Given the description of an element on the screen output the (x, y) to click on. 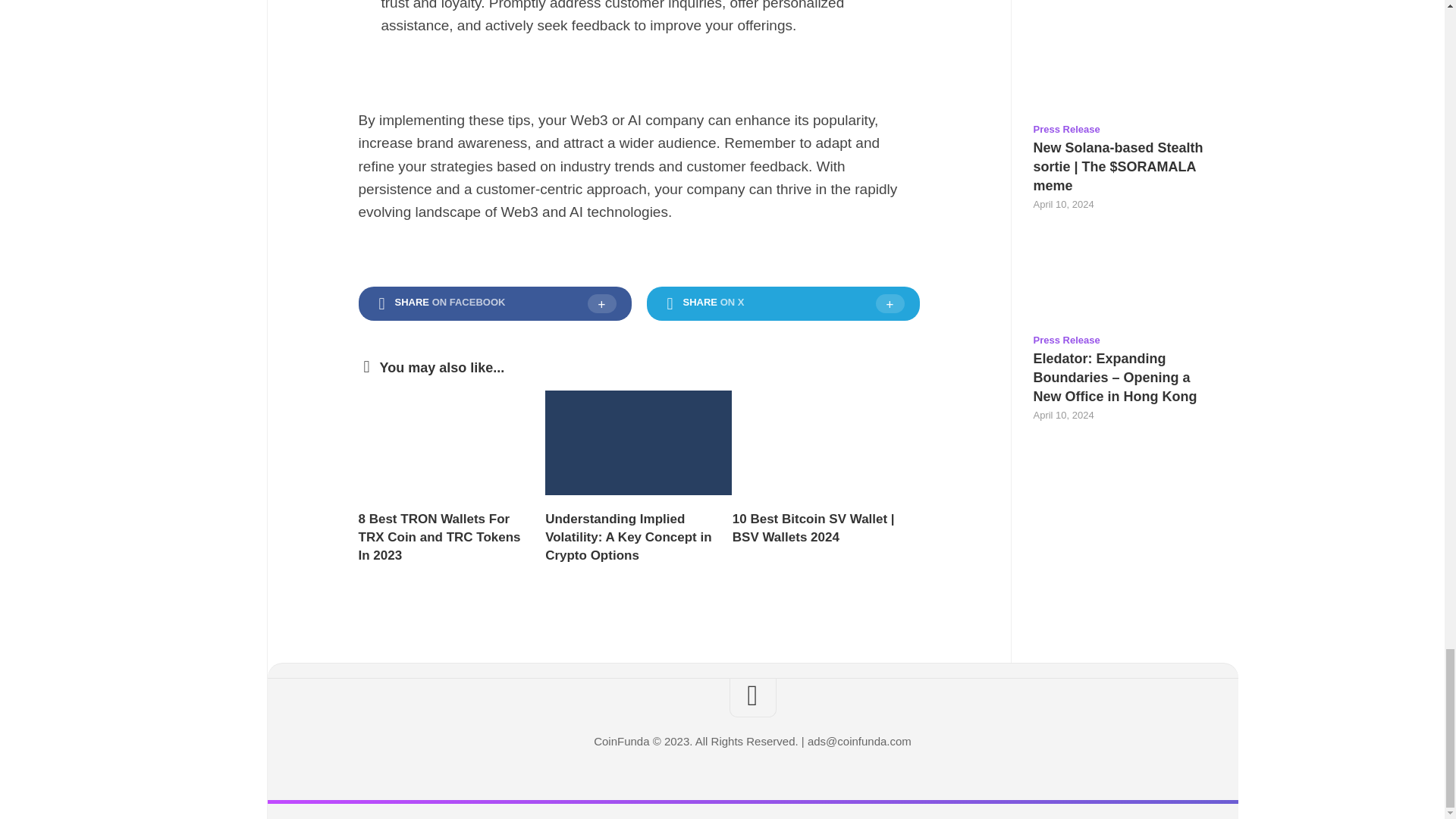
8 Best TRON Wallets For TRX Coin and TRC Tokens In 2023 (438, 536)
8 Best TRON Wallets For TRX Coin and TRC Tokens In 2023 2 (451, 442)
SHARE ON X (782, 303)
SHARE ON FACEBOOK (494, 303)
